Given the description of an element on the screen output the (x, y) to click on. 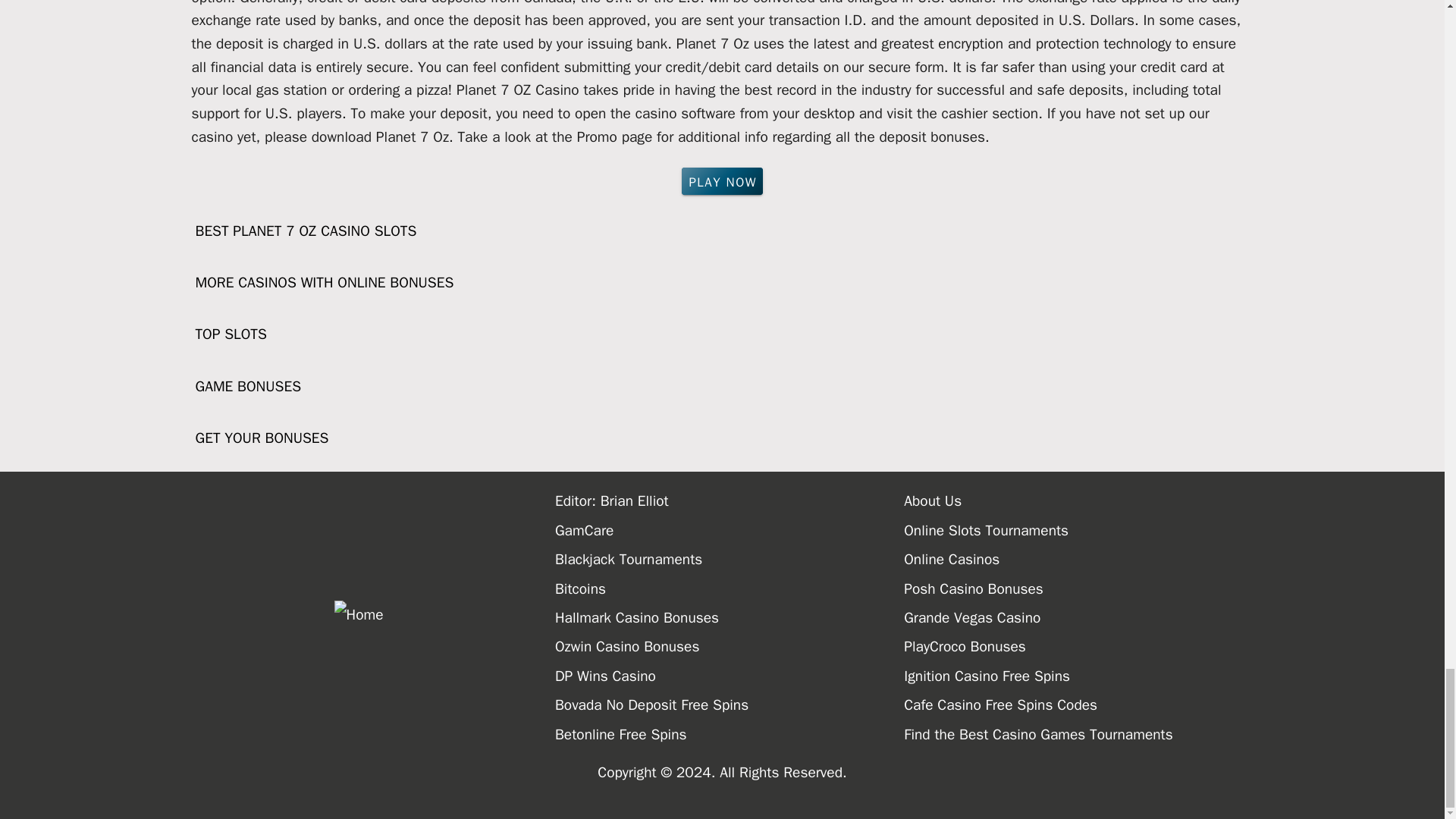
Bovada No Deposit Free Spins (729, 705)
Online Slots Tournaments (1078, 530)
PlayCroco Bonuses (1078, 646)
DP Wins Casino (729, 676)
Blackjack Tournaments (729, 559)
Posh Casino Bonuses (1078, 588)
Cafe Casino Free Spins Codes (1078, 705)
Online Casinos (1078, 559)
Betonline Free Spins (729, 734)
Ignition Casino Free Spins (1078, 676)
